Given the description of an element on the screen output the (x, y) to click on. 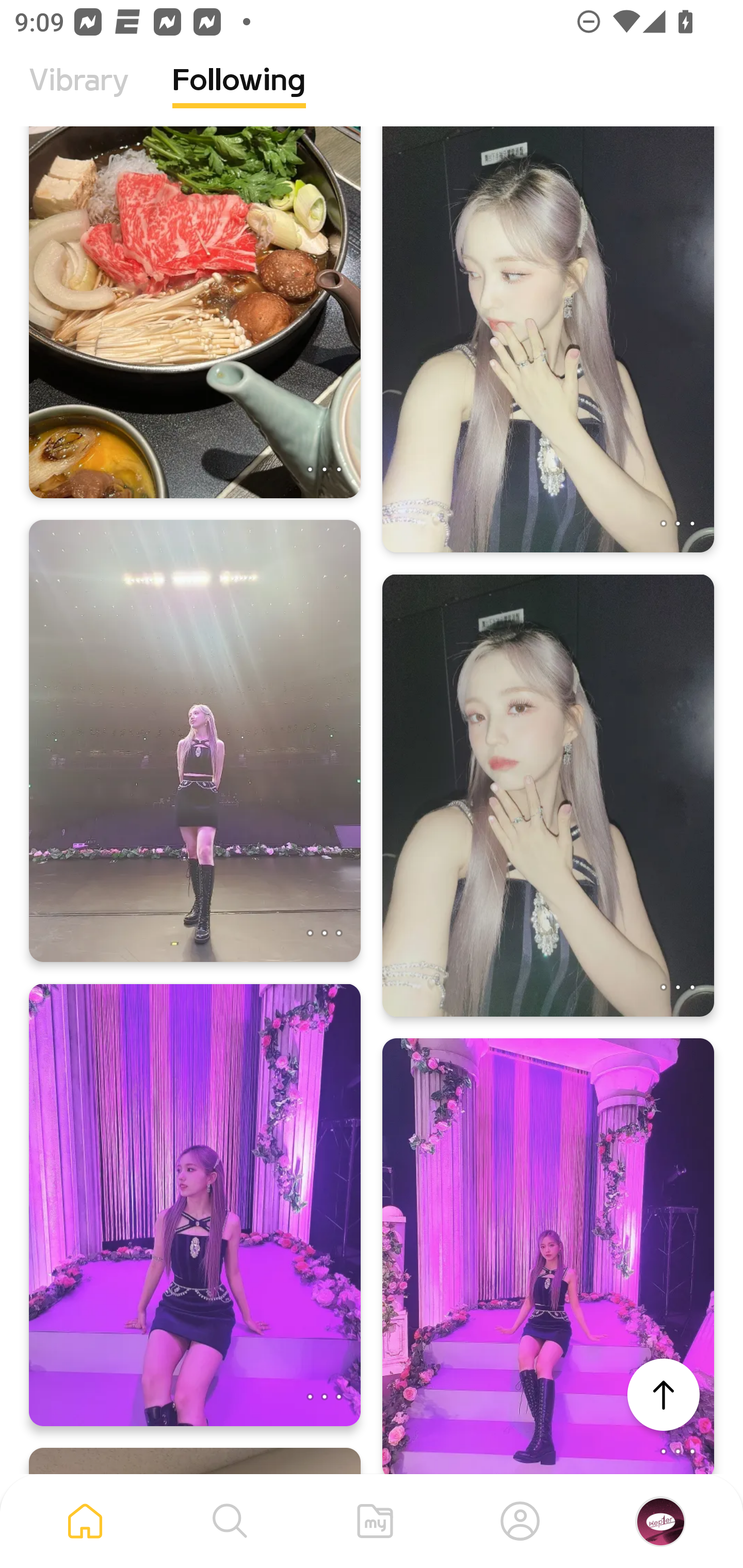
Vibrary (78, 95)
Following (239, 95)
